Given the description of an element on the screen output the (x, y) to click on. 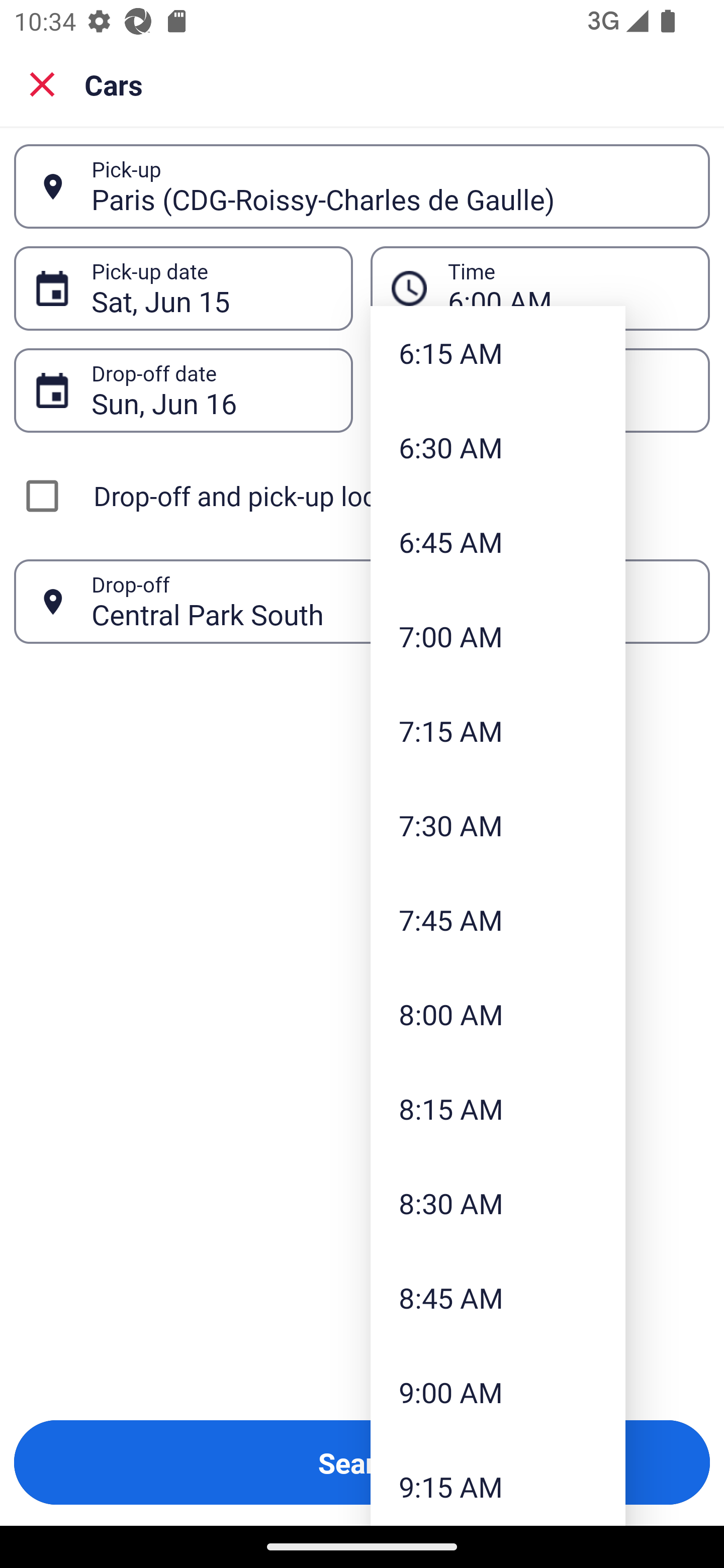
6:15 AM (497, 352)
6:30 AM (497, 446)
6:45 AM (497, 541)
7:00 AM (497, 636)
7:15 AM (497, 730)
7:30 AM (497, 824)
7:45 AM (497, 919)
8:00 AM (497, 1014)
8:15 AM (497, 1108)
8:30 AM (497, 1202)
8:45 AM (497, 1297)
9:00 AM (497, 1392)
9:15 AM (497, 1482)
